Given the description of an element on the screen output the (x, y) to click on. 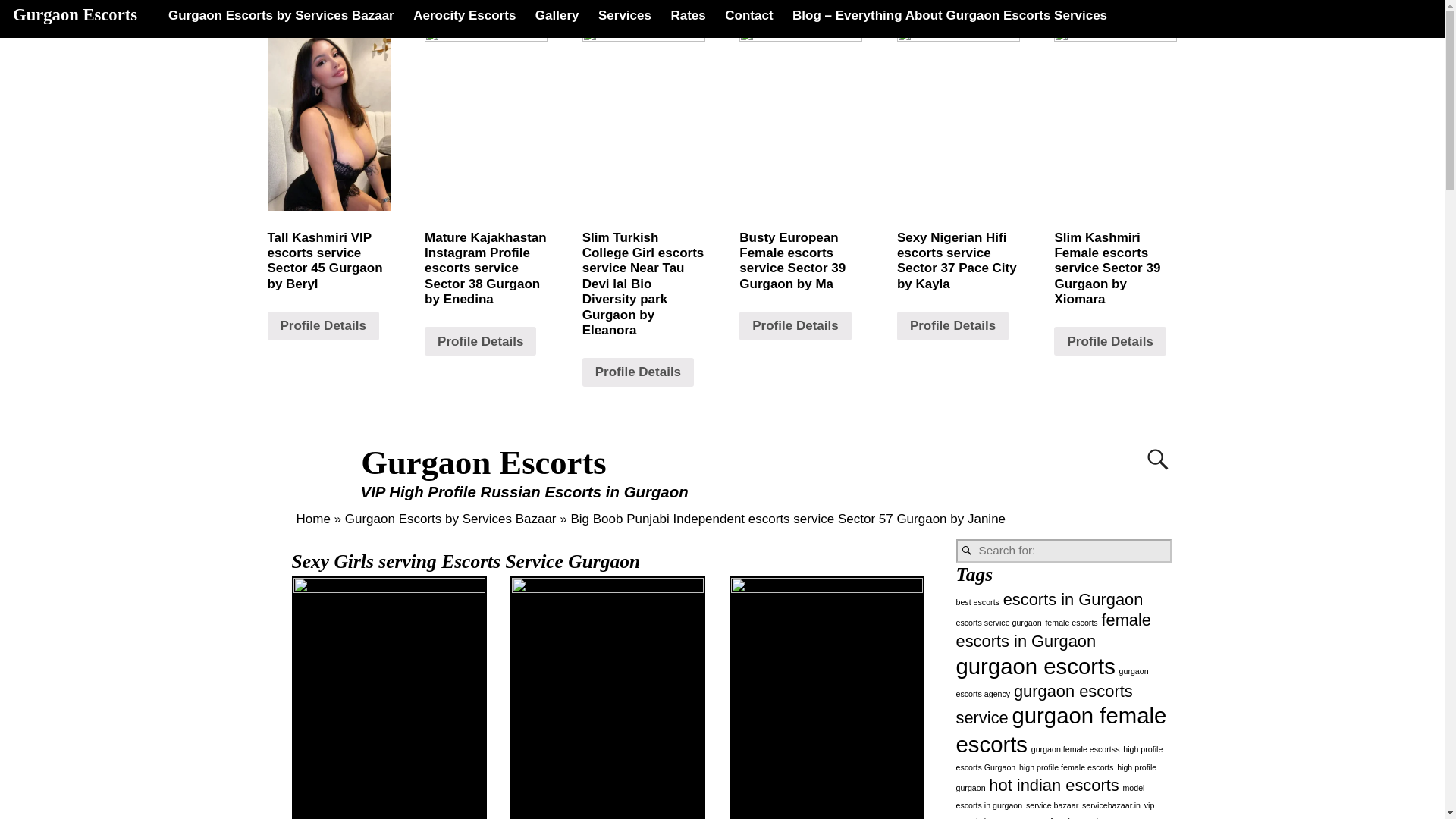
Profile Details (480, 340)
Services (624, 15)
Rates (688, 15)
Contact (749, 15)
Gallery (556, 15)
Gurgaon Escorts by Services Bazaar (450, 518)
Gurgaon Escorts (483, 462)
Profile Details (322, 326)
Aerocity Escorts (464, 15)
Profile Details (794, 326)
